Given the description of an element on the screen output the (x, y) to click on. 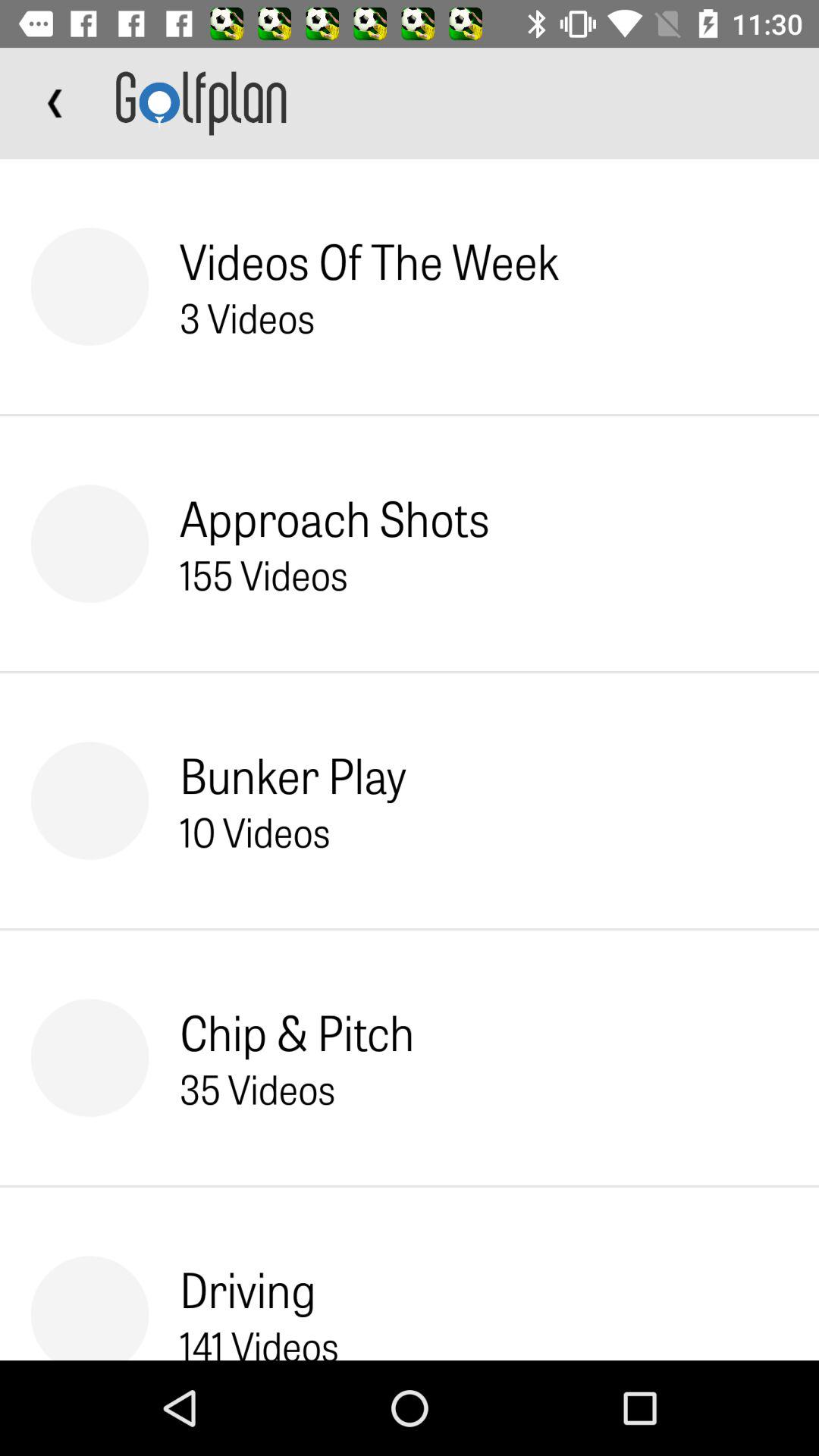
press the 10 videos icon (254, 831)
